Given the description of an element on the screen output the (x, y) to click on. 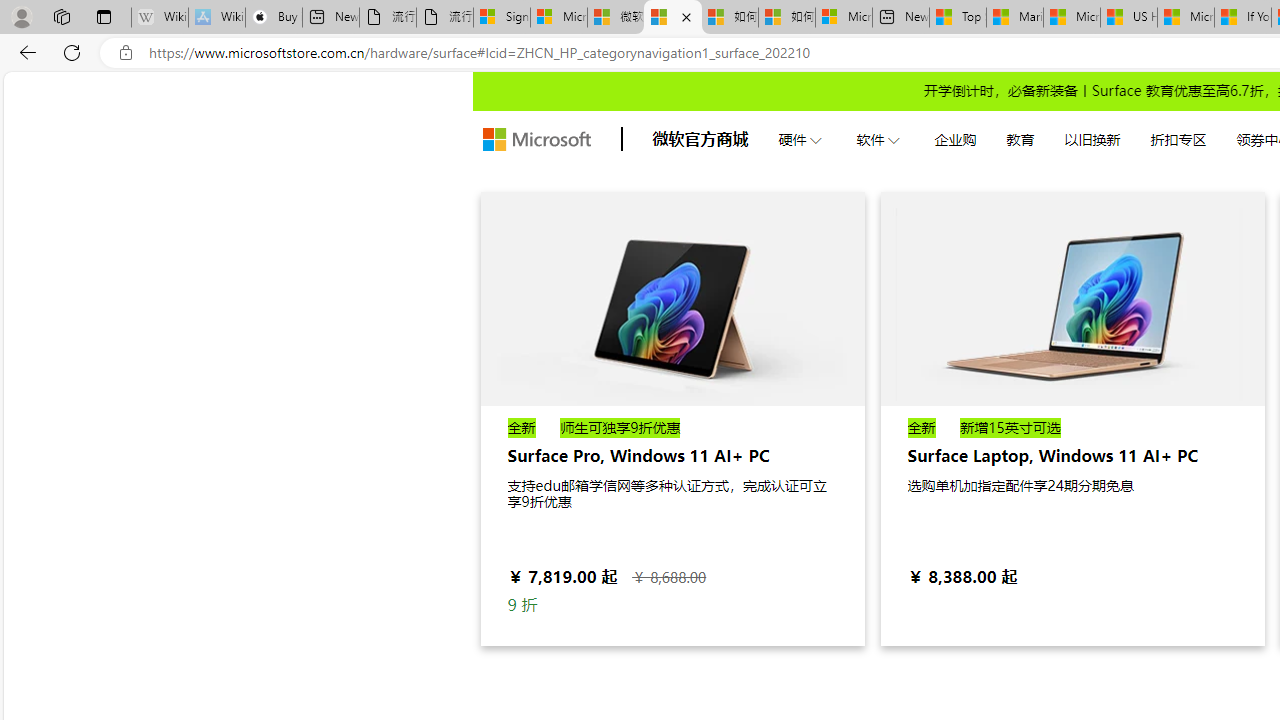
Workspaces (61, 16)
Microsoft (536, 139)
Microsoft Start (1185, 17)
store logo (536, 139)
Personal Profile (21, 16)
Surface Laptop, Windows 11 AI+ PC (1072, 417)
Marine life - MSN (1014, 17)
Surface Pro, Windows 11 AI+ PC (672, 298)
Microsoft Services Agreement (559, 17)
Microsoft account | Account Checkup (843, 17)
